Given the description of an element on the screen output the (x, y) to click on. 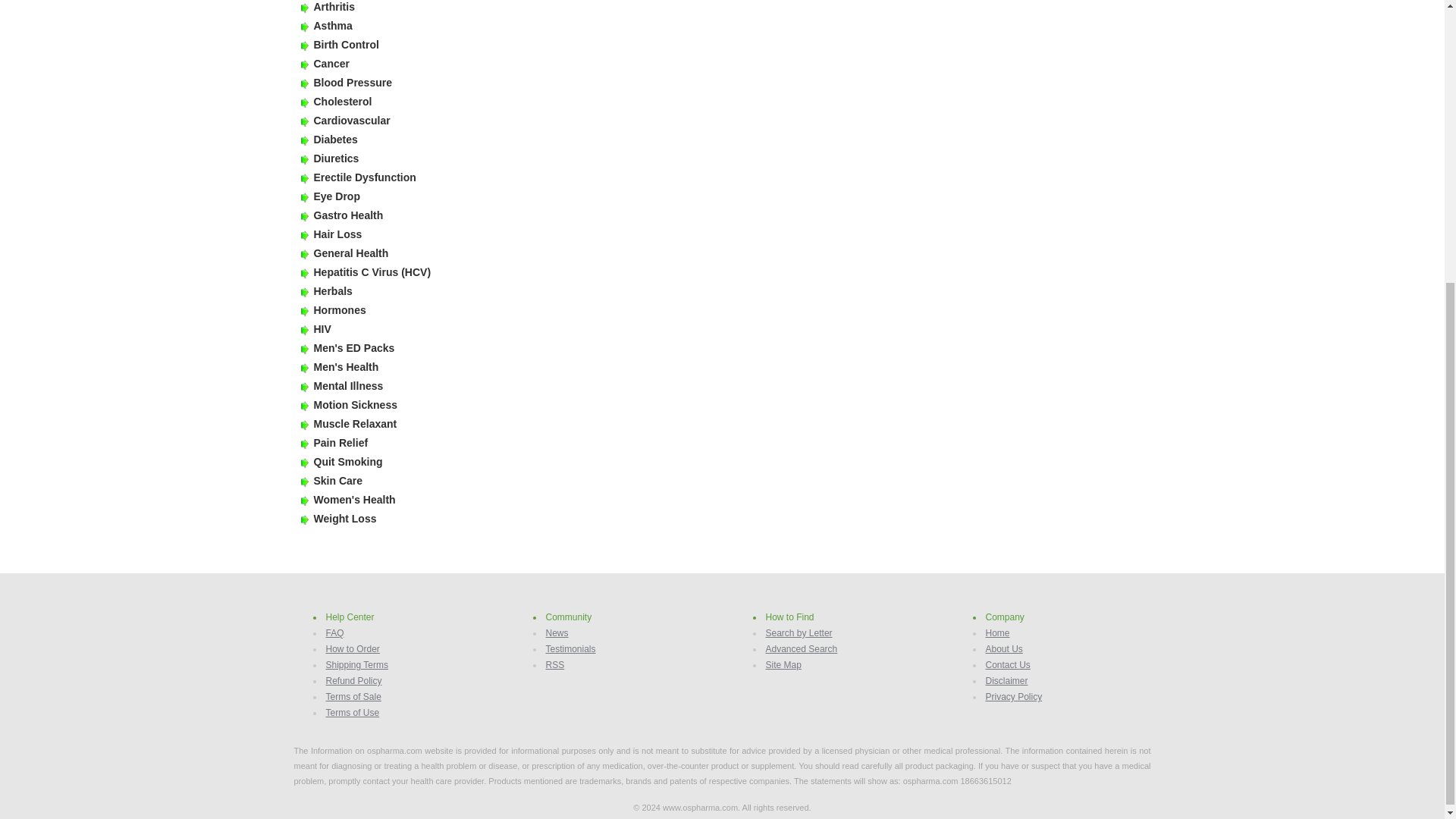
Shipping Terms (357, 665)
Search by Letter (798, 633)
FAQ (334, 633)
Terms of Use (353, 712)
Contact Us (1007, 665)
Terms of Sale (353, 696)
RSS (555, 665)
Disclaimer (1006, 680)
Arthritis (334, 6)
News (557, 633)
Refund Policy (353, 680)
How to Order  (353, 648)
About Us (1004, 648)
Cancer (331, 63)
Testimonials (570, 648)
